Given the description of an element on the screen output the (x, y) to click on. 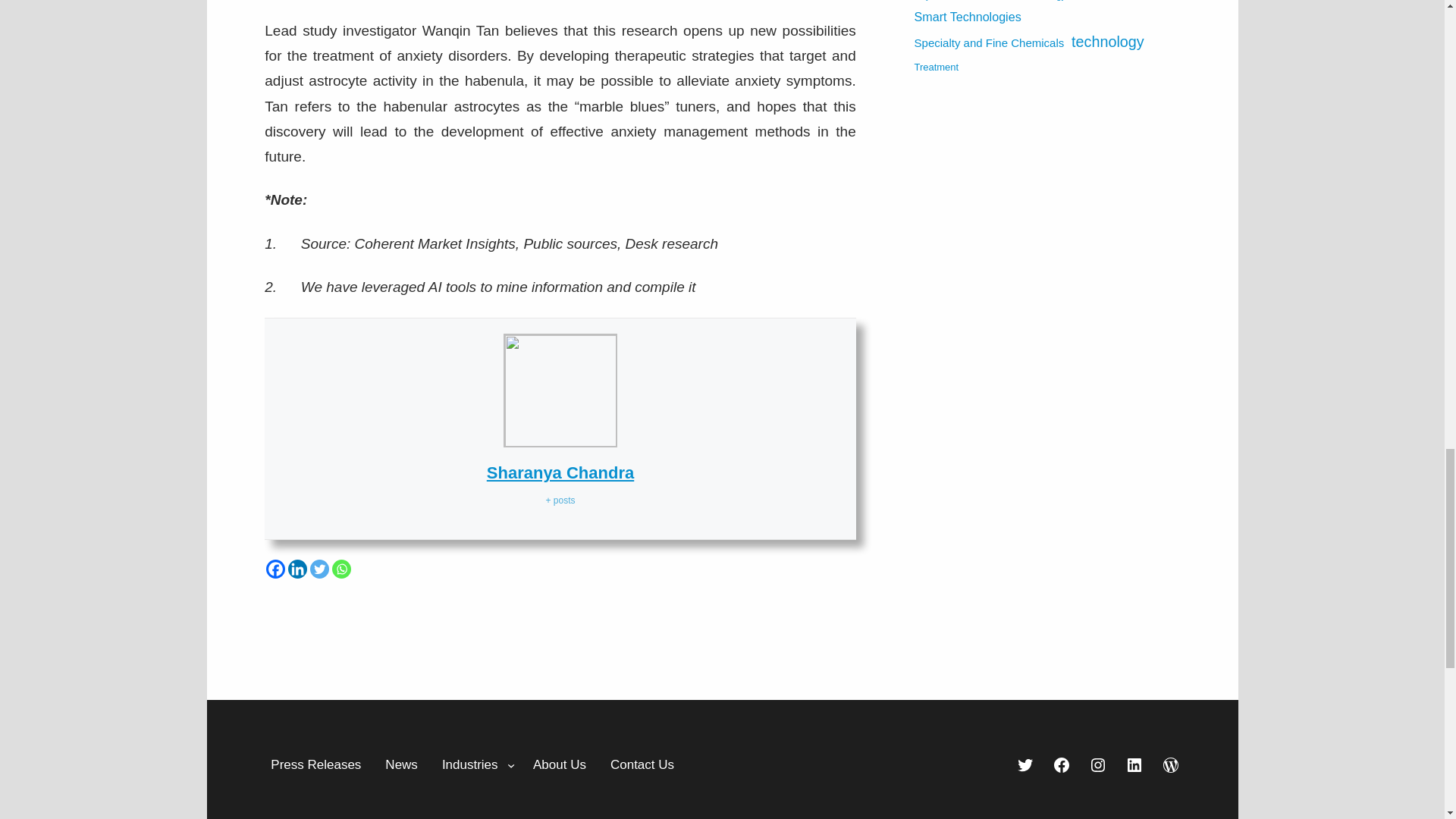
Sharanya Chandra (559, 472)
